Given the description of an element on the screen output the (x, y) to click on. 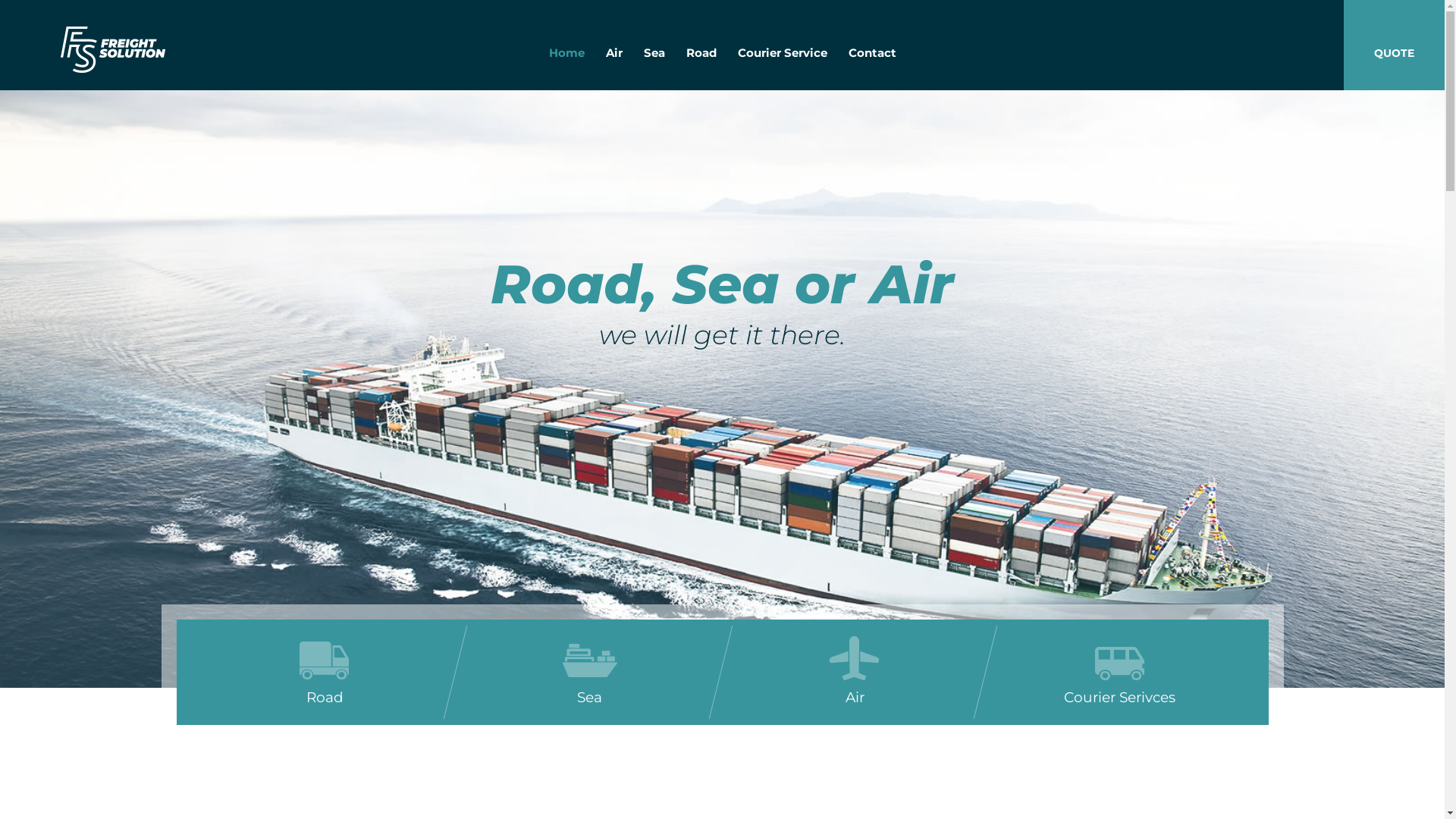
Air Element type: text (854, 671)
Contact Element type: text (871, 52)
Courier Service Element type: text (781, 52)
Sea Element type: text (589, 671)
Air Element type: text (613, 52)
Road Element type: text (324, 671)
Road Element type: text (700, 52)
Courier Serivces Element type: text (1119, 671)
QUOTE Element type: text (1393, 45)
Home Element type: text (566, 52)
Sea Element type: text (653, 52)
